Given the description of an element on the screen output the (x, y) to click on. 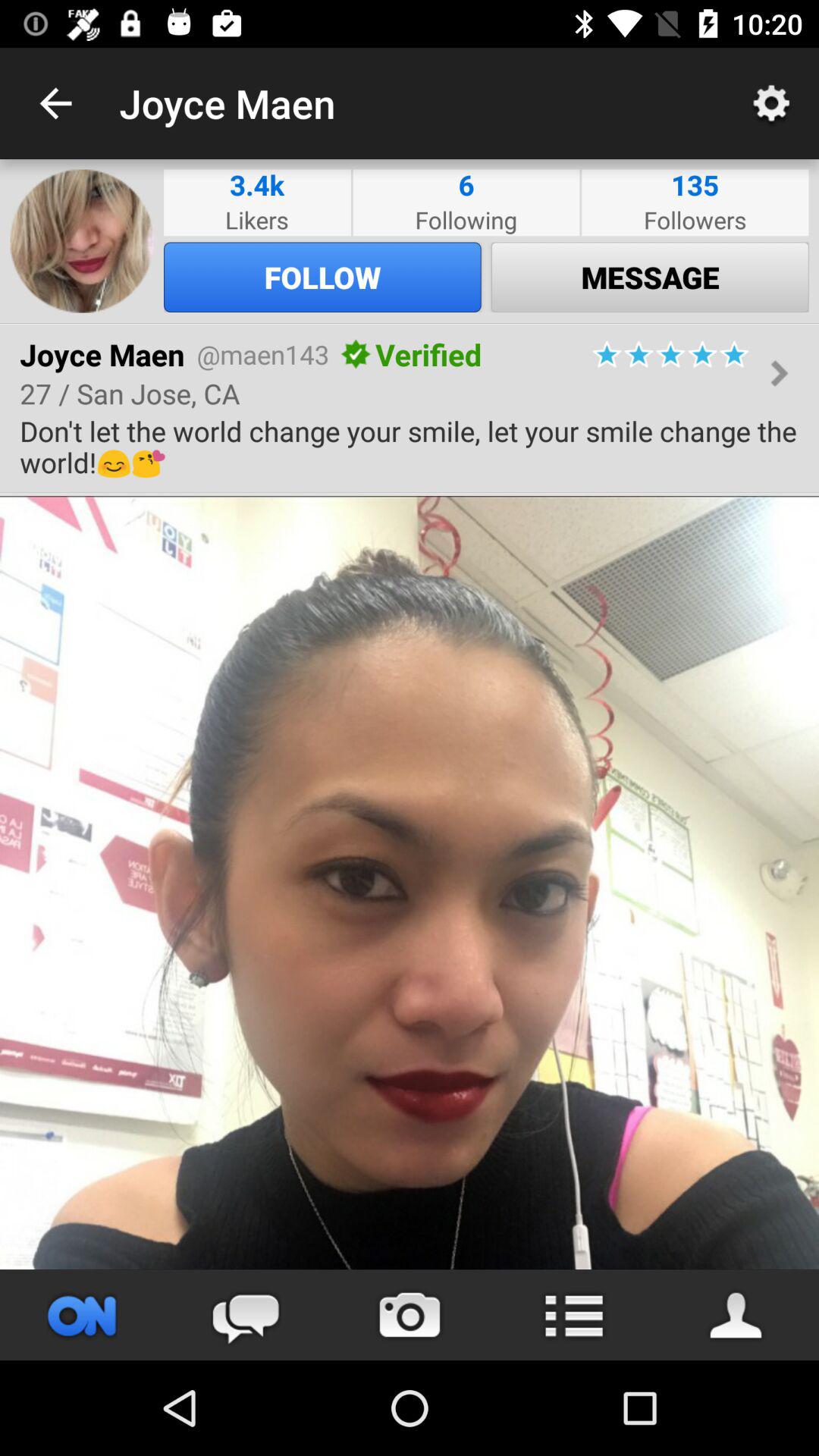
swipe to @maen143 item (262, 353)
